Given the description of an element on the screen output the (x, y) to click on. 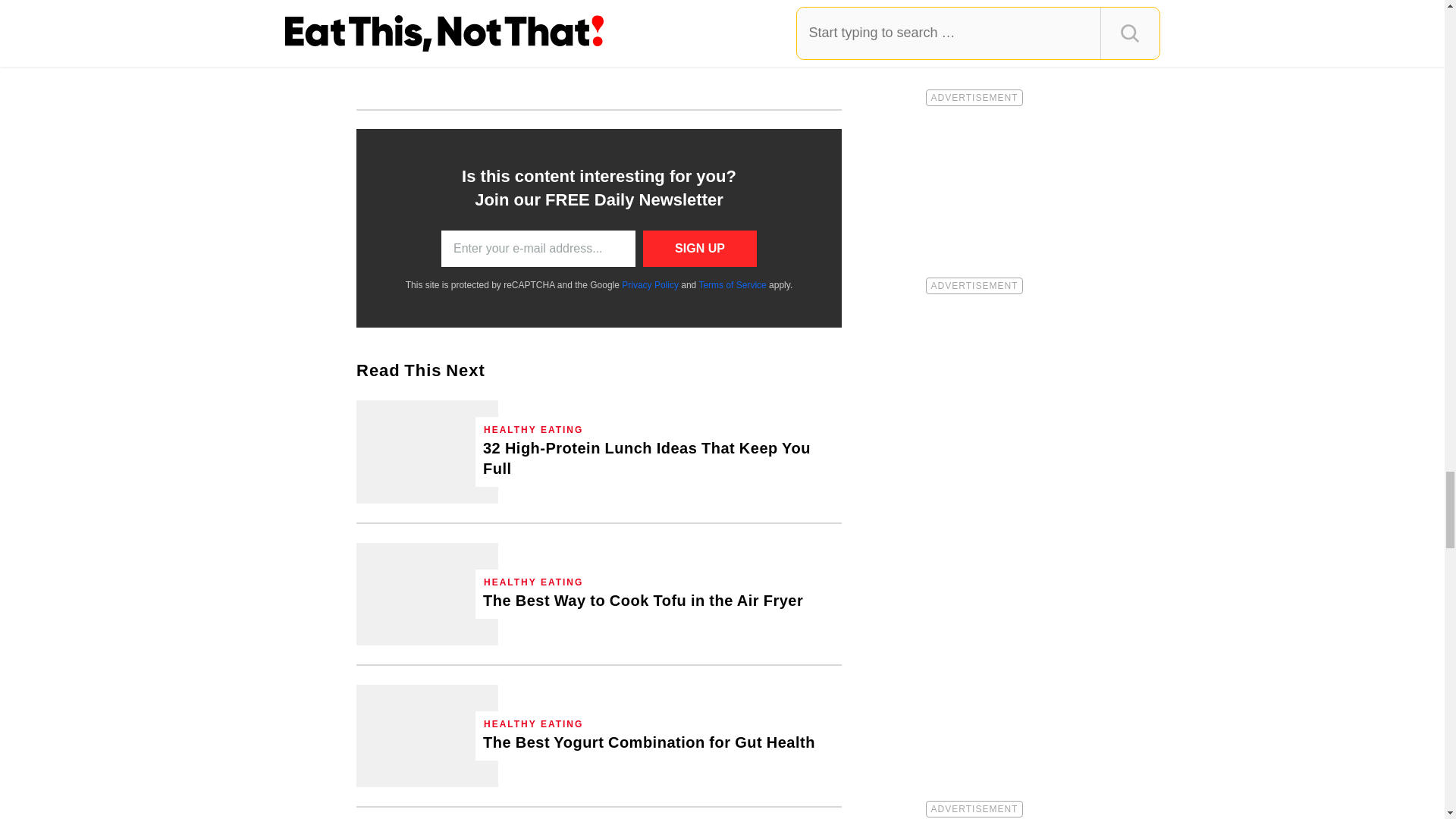
32 High-Protein Lunch Ideas That Keep You Full (658, 458)
The Best Way to Cook Tofu in the Air Fryer (643, 600)
32 High-Protein Lunch Ideas That Keep You Full (426, 451)
The Best Way to Cook Tofu in the Air Fryer (426, 593)
